Given the description of an element on the screen output the (x, y) to click on. 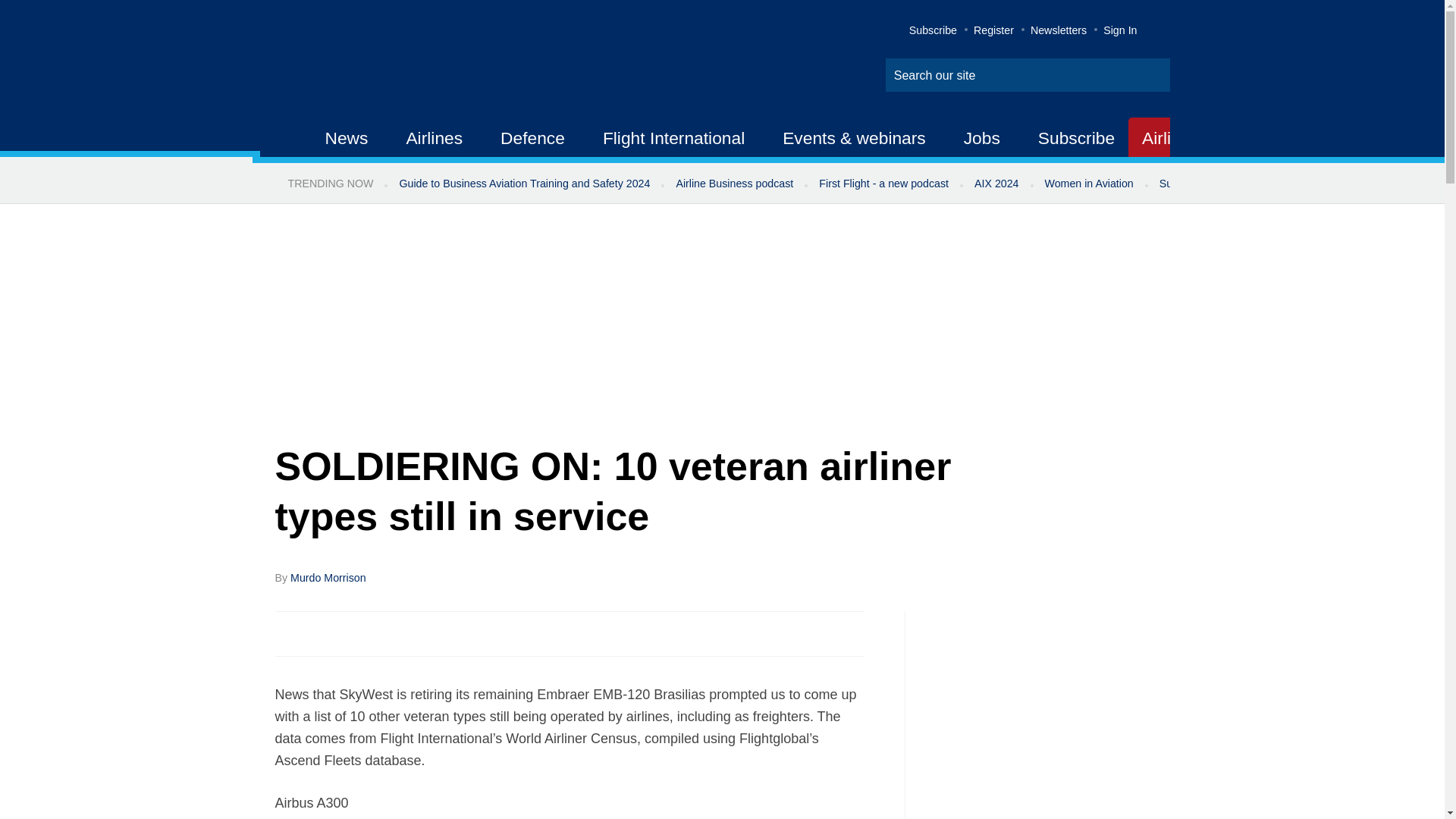
Guide to Business Aviation Training and Safety 2024 (523, 183)
Email this article (386, 633)
Airline Business podcast (734, 183)
Sustainable Aviation newsletter (1234, 183)
Share this on Twitter (320, 633)
AIX 2024 (996, 183)
First Flight - a new podcast (883, 183)
Site name (422, 60)
Share this on Linked in (352, 633)
Women in Aviation (1089, 183)
